Given the description of an element on the screen output the (x, y) to click on. 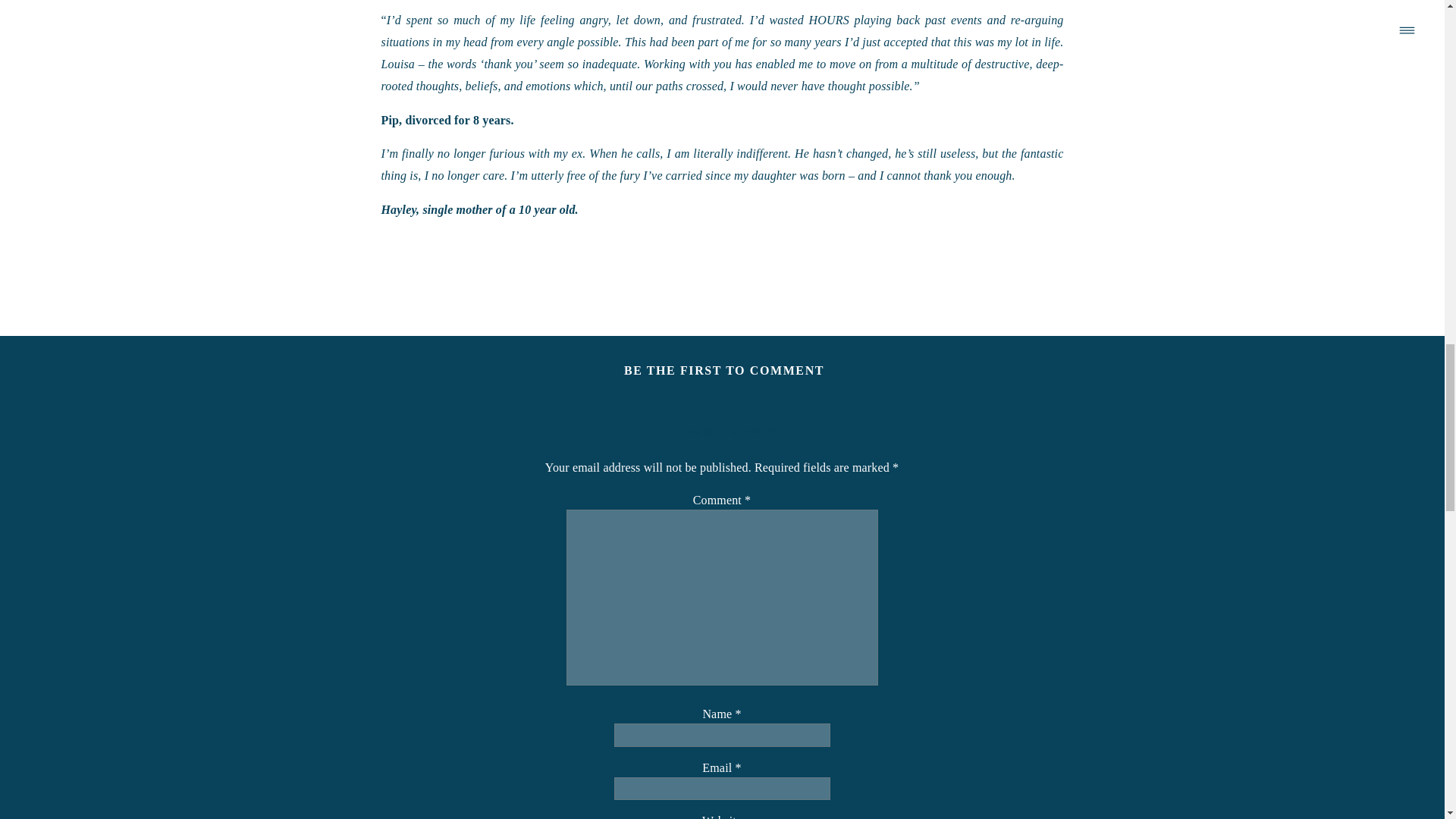
BE THE FIRST TO COMMENT (724, 369)
